Given the description of an element on the screen output the (x, y) to click on. 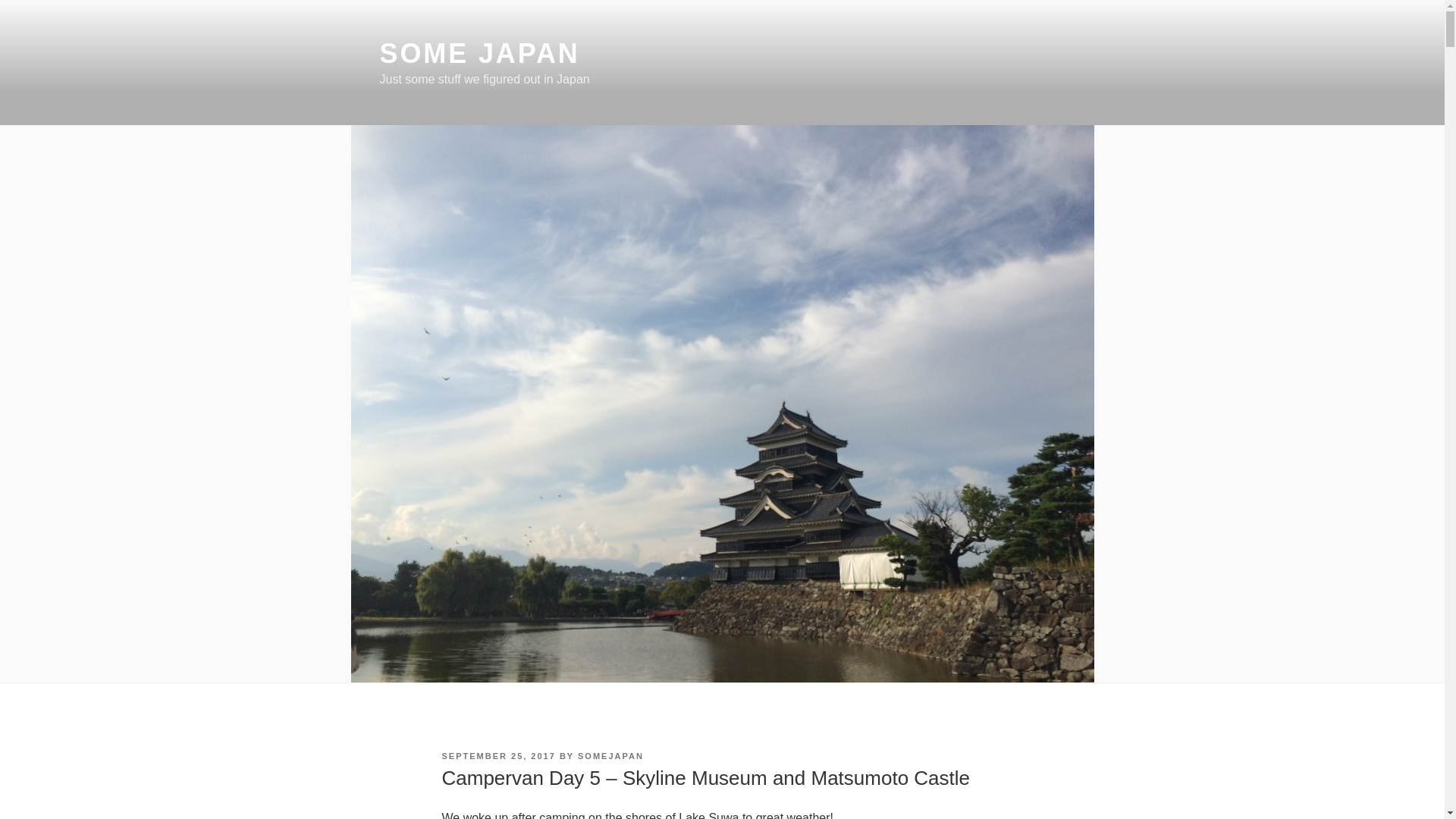
SEPTEMBER 25, 2017 (497, 755)
SOME JAPAN (478, 52)
SOMEJAPAN (610, 755)
